Given the description of an element on the screen output the (x, y) to click on. 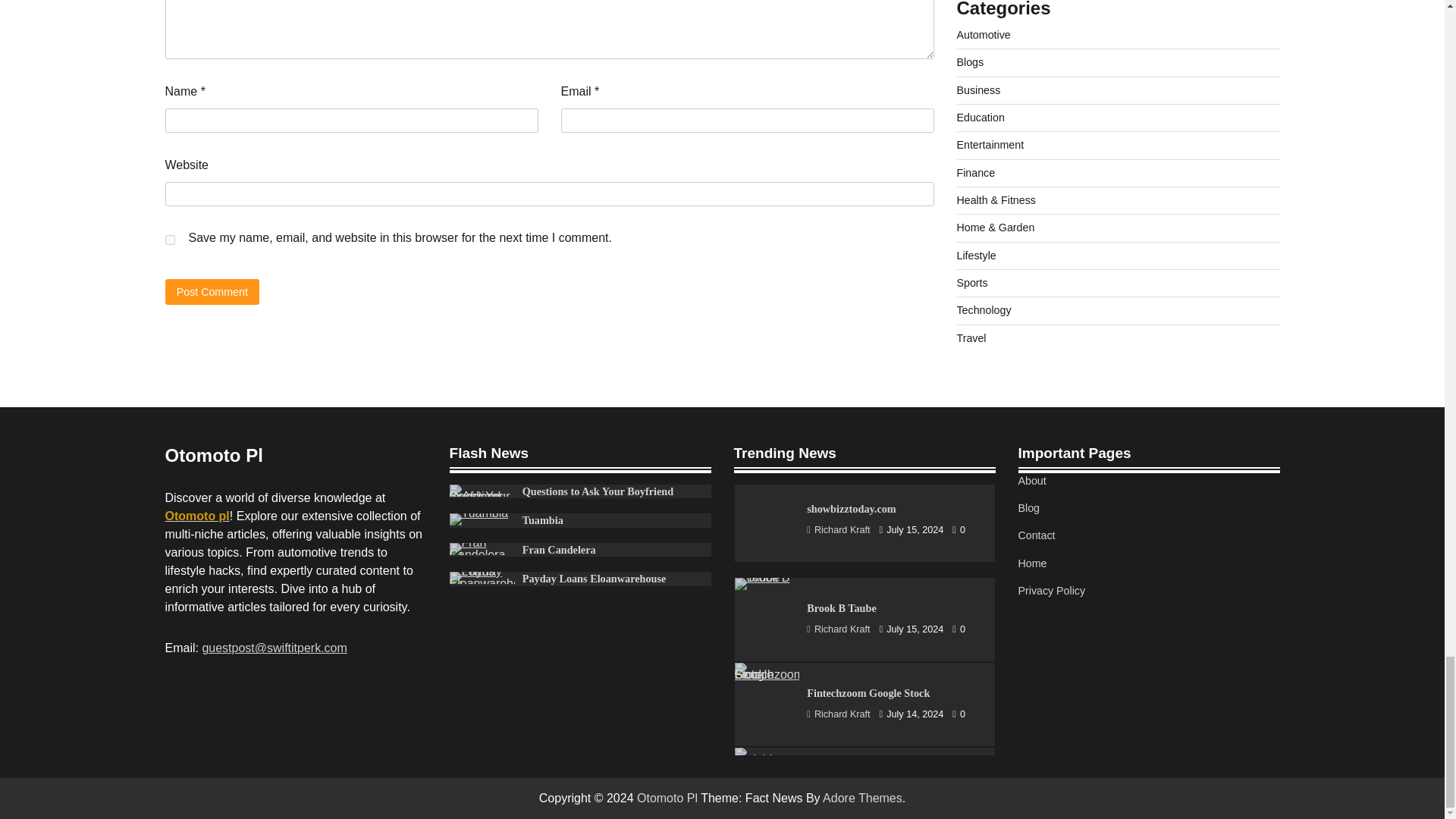
yes (169, 239)
Post Comment (212, 291)
Post Comment (212, 291)
